Given the description of an element on the screen output the (x, y) to click on. 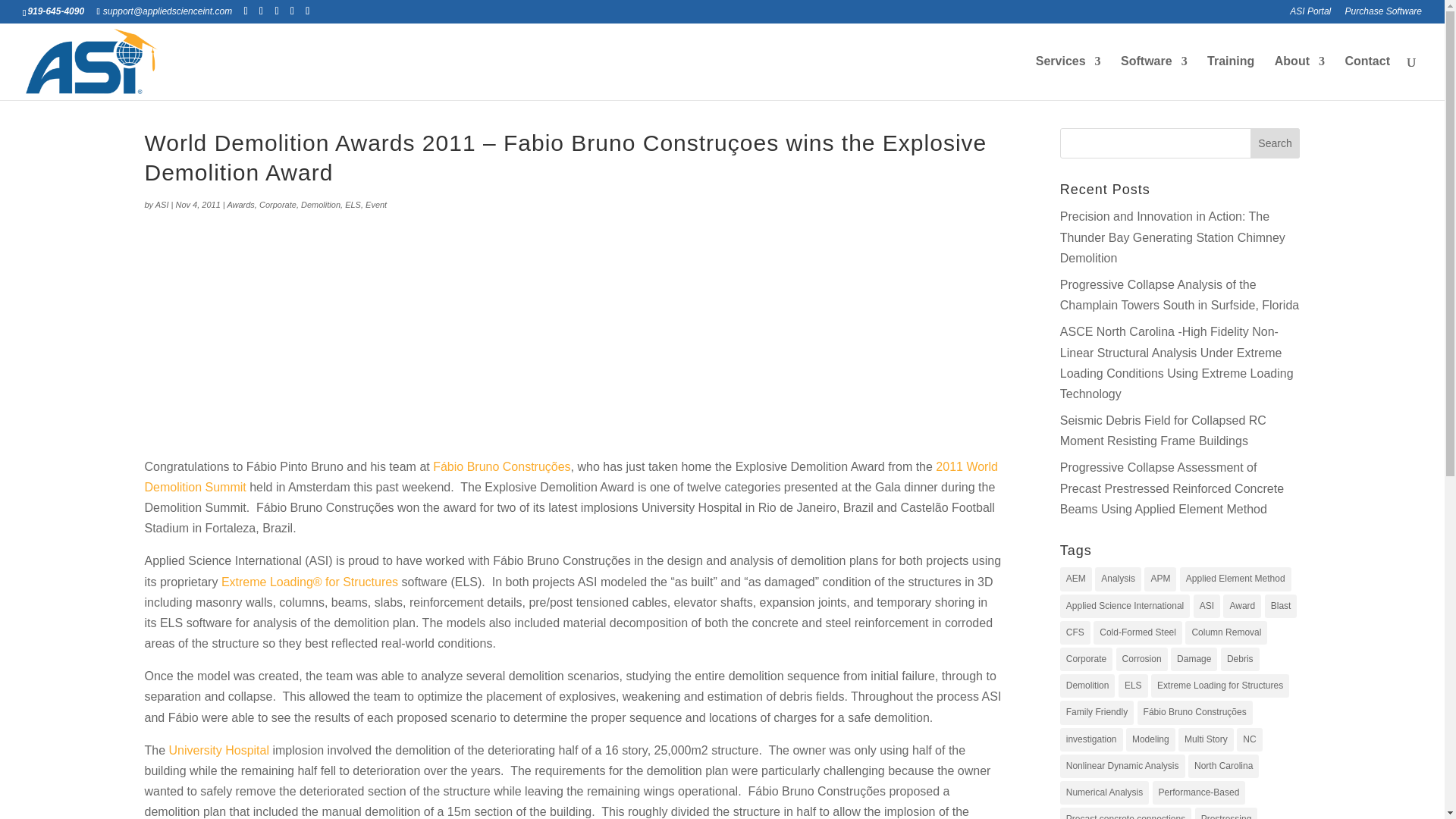
Training (1230, 77)
Services (1067, 77)
Software (1154, 77)
University Hospital Implosion (218, 749)
About (1299, 77)
Search (1275, 142)
ASI Portal (1310, 14)
2011 World Demolition Summit  (570, 476)
Posts by ASI (161, 204)
Purchase Software (1383, 14)
